Given the description of an element on the screen output the (x, y) to click on. 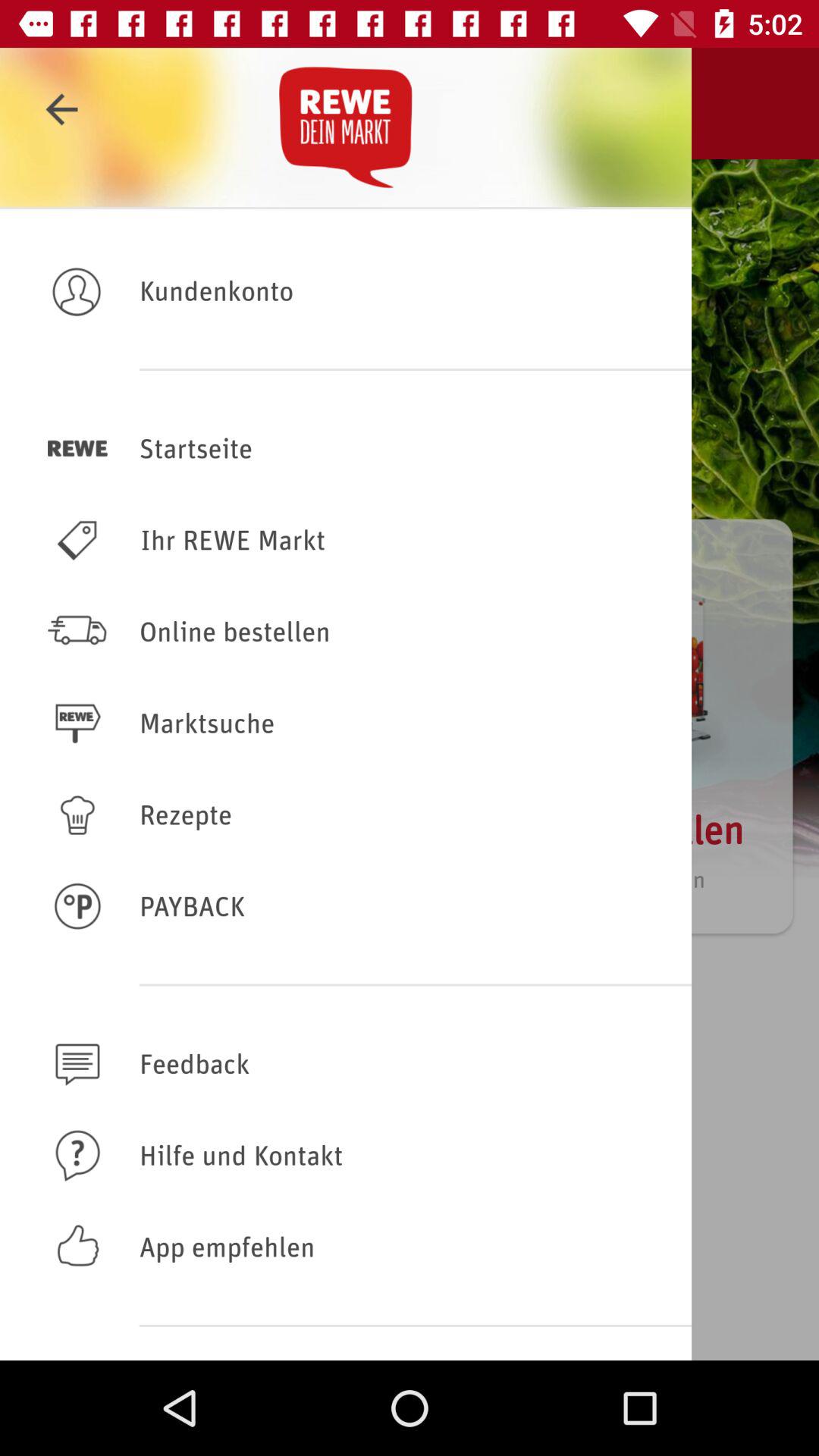
no tagging (345, 1063)
click on profile image (77, 290)
click on left arrow at top left (61, 109)
